Given the description of an element on the screen output the (x, y) to click on. 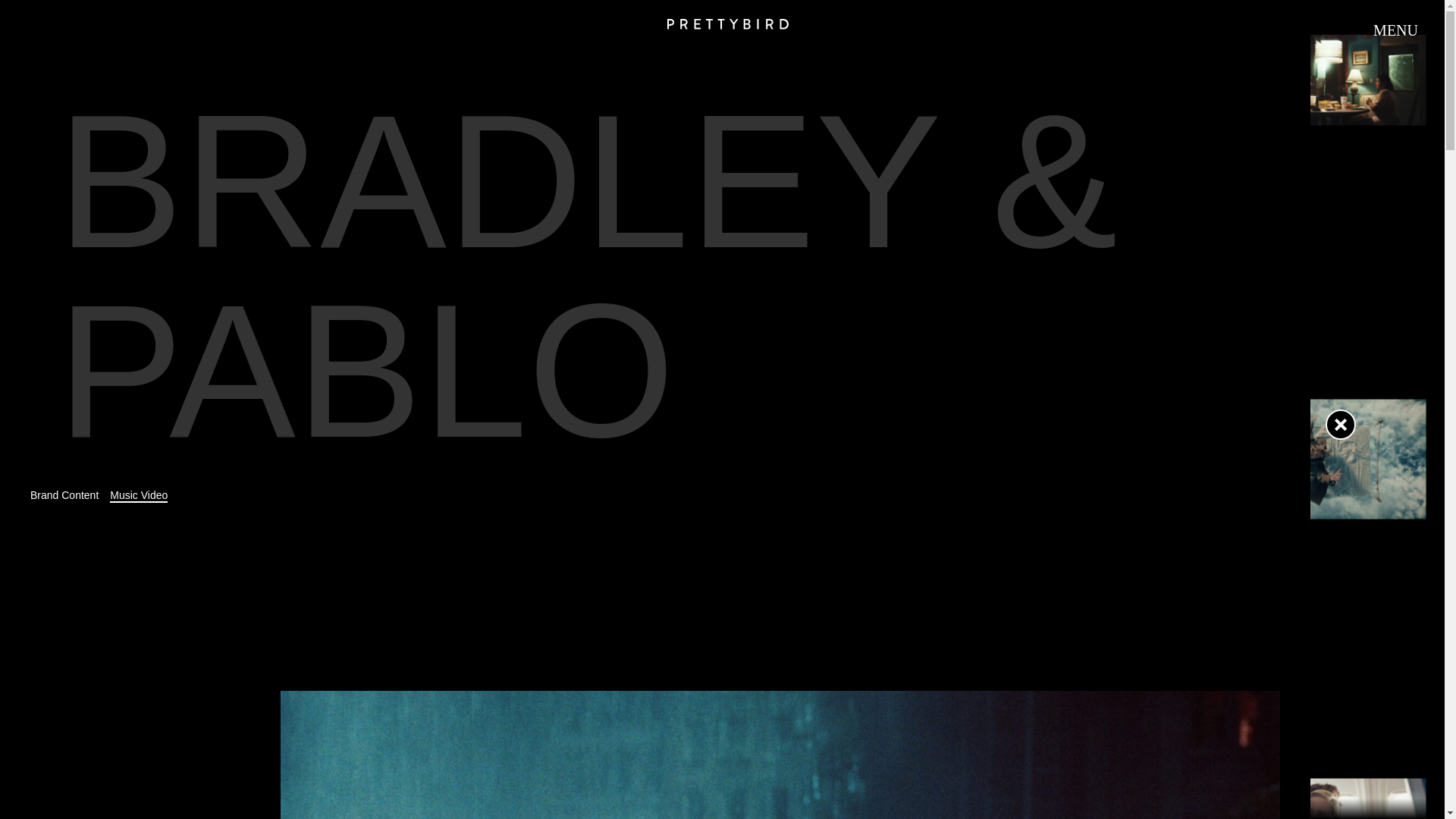
Music Video (138, 494)
Brand Content (64, 494)
Explore (727, 795)
